Given the description of an element on the screen output the (x, y) to click on. 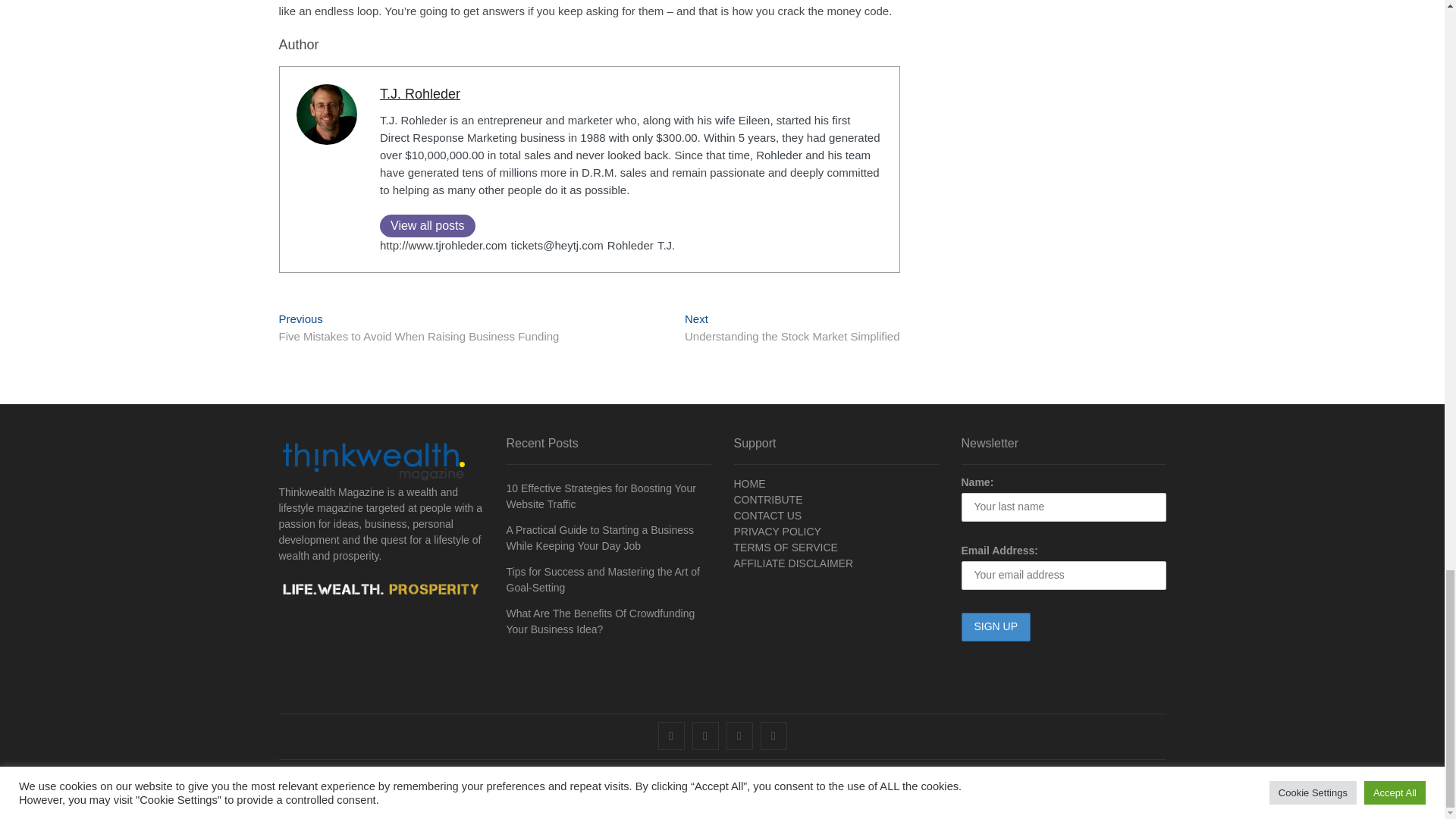
Sign up (995, 626)
Theme Freesia (483, 791)
WordPress (544, 791)
View all posts (428, 225)
T.J. Rohleder (420, 93)
Thinkwealth Magazine (335, 790)
